Given the description of an element on the screen output the (x, y) to click on. 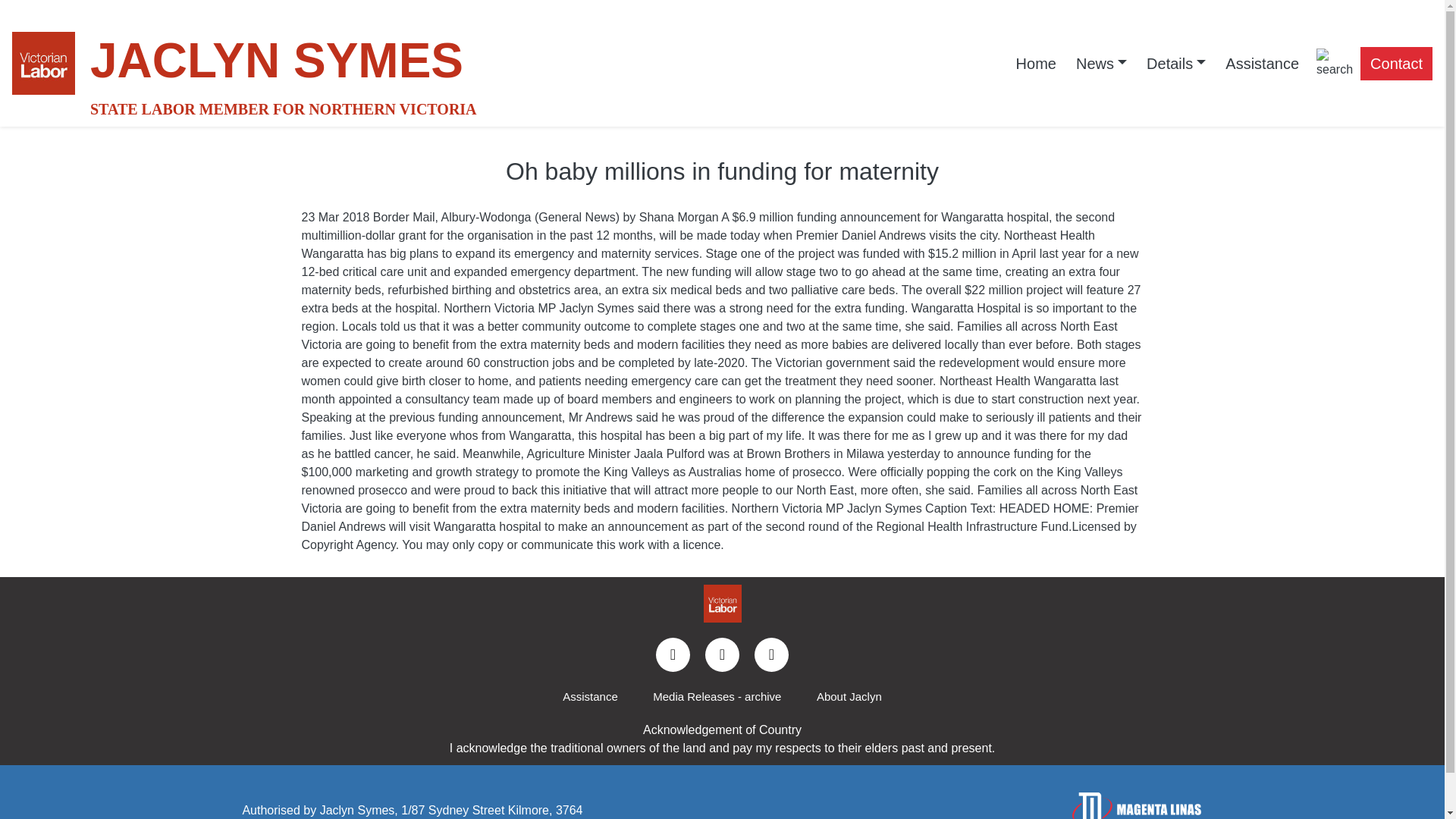
Home (1035, 63)
About Jaclyn (848, 696)
Media Releases - archive (716, 696)
Assistance (590, 696)
News (1101, 63)
Contact (1395, 63)
Assistance (1261, 63)
Details (1176, 63)
